Given the description of an element on the screen output the (x, y) to click on. 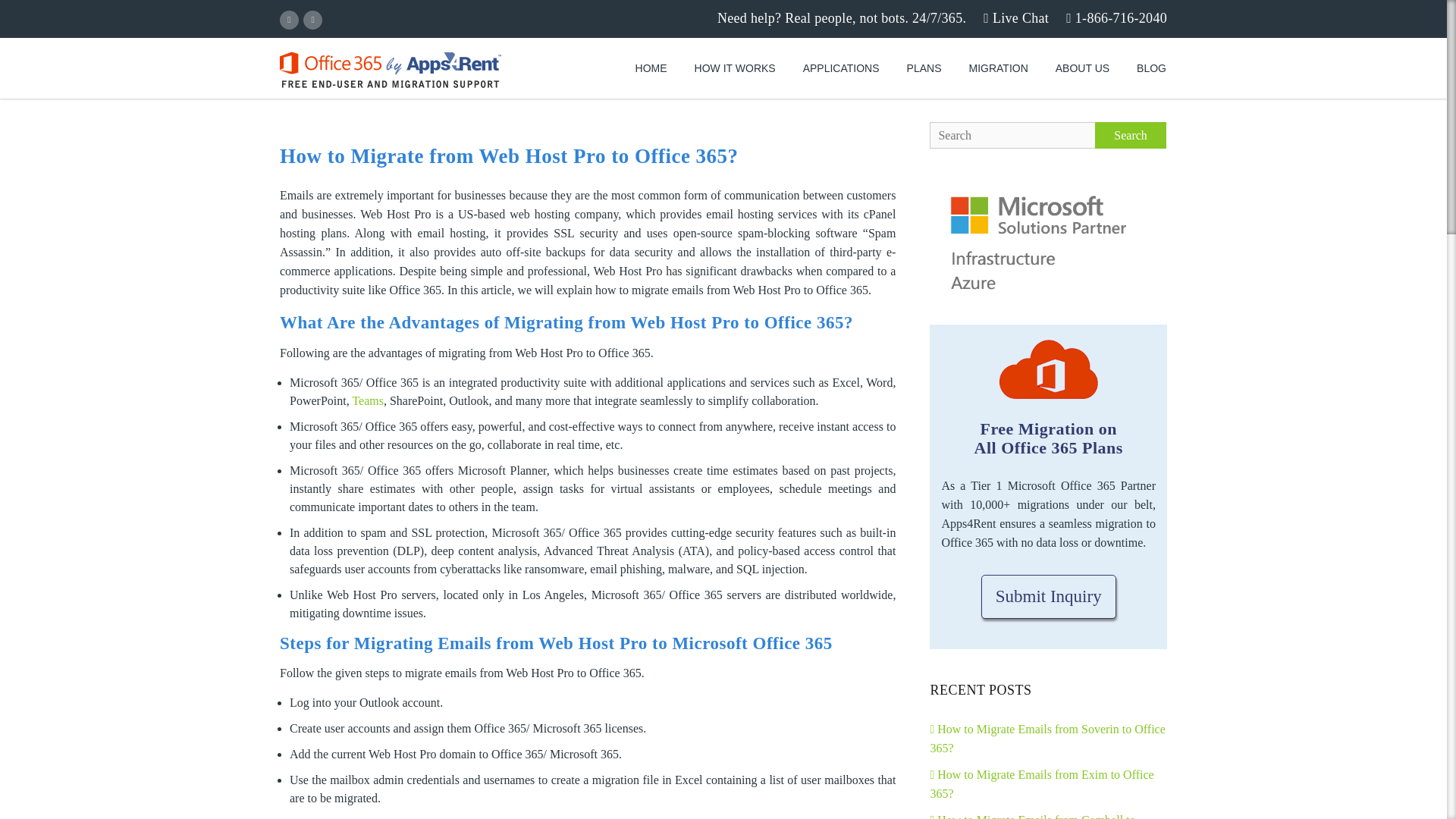
Permalink to How to Migrate from Web Host Pro to Office 365? (508, 155)
HOME (651, 68)
APPLICATIONS (841, 68)
1-866-716-2040 (1116, 17)
Live Chat (1016, 17)
Search (1130, 135)
HOW IT WORKS (735, 68)
